Given the description of an element on the screen output the (x, y) to click on. 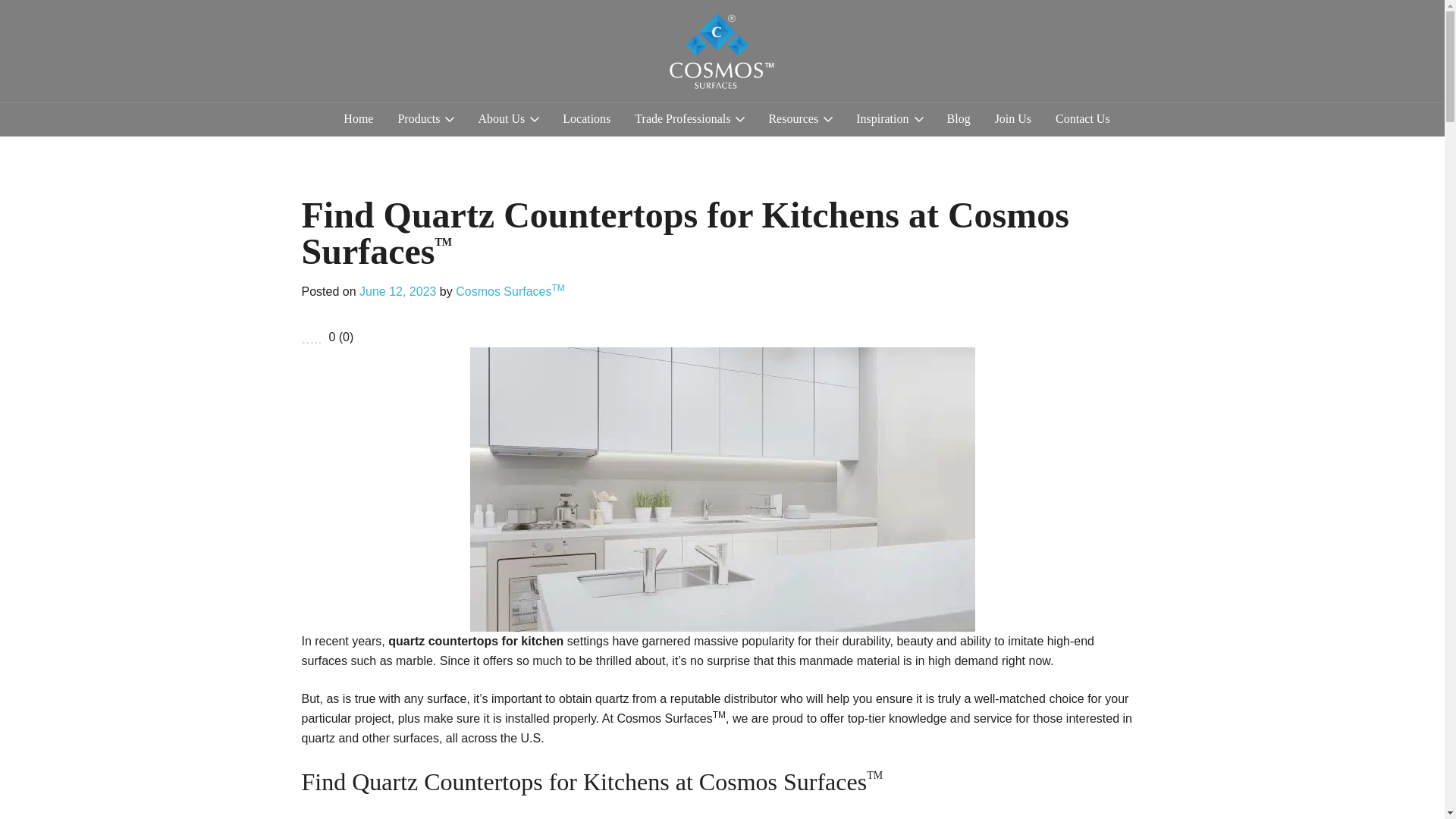
About Us (508, 118)
Trade Professionals (689, 118)
Resources (799, 118)
Search (1098, 26)
Cosmos Surfaces (702, 99)
Locations (585, 118)
Home (358, 118)
Products (425, 118)
Search (1399, 219)
